Given the description of an element on the screen output the (x, y) to click on. 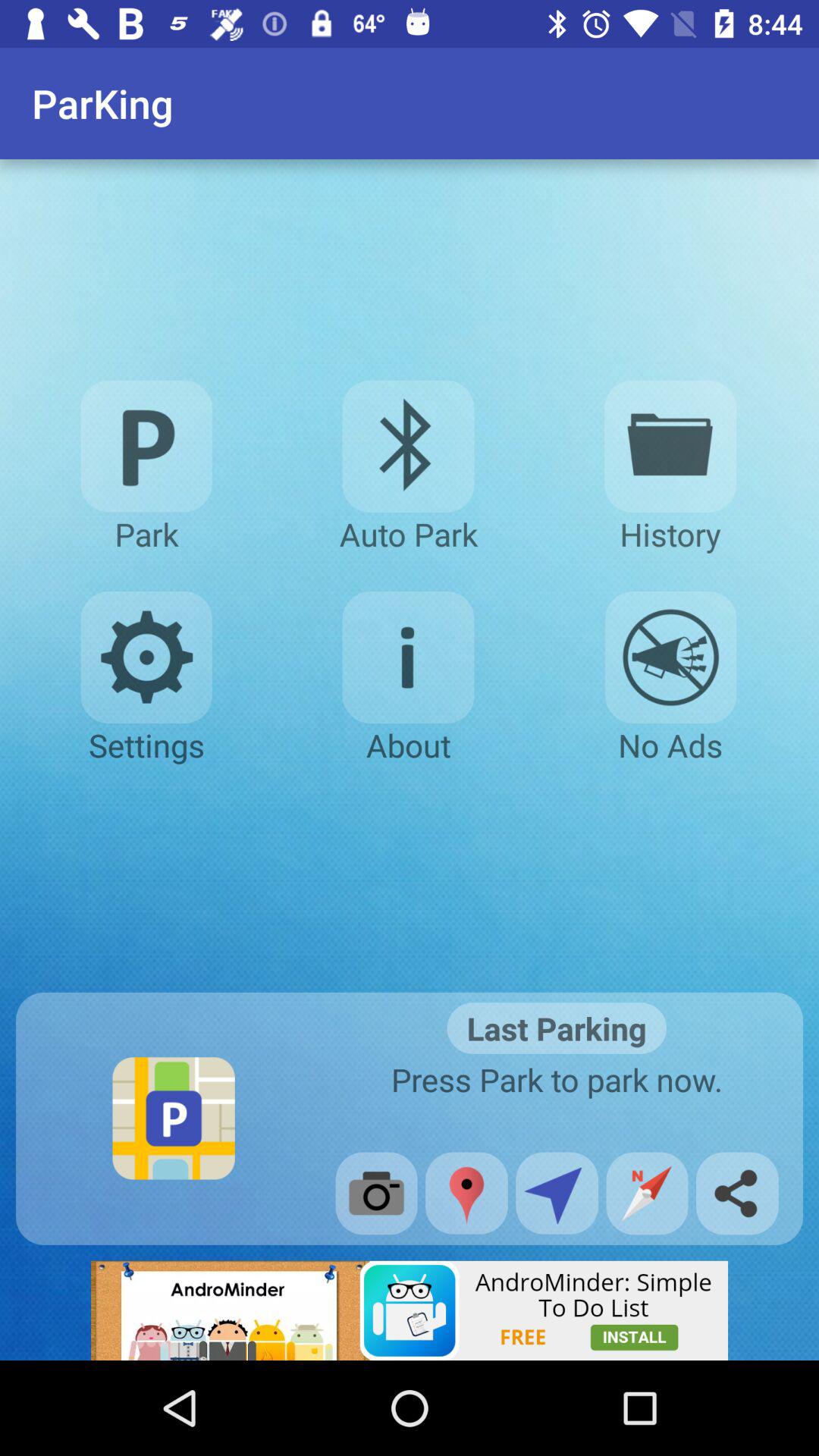
this share button (556, 1193)
